Given the description of an element on the screen output the (x, y) to click on. 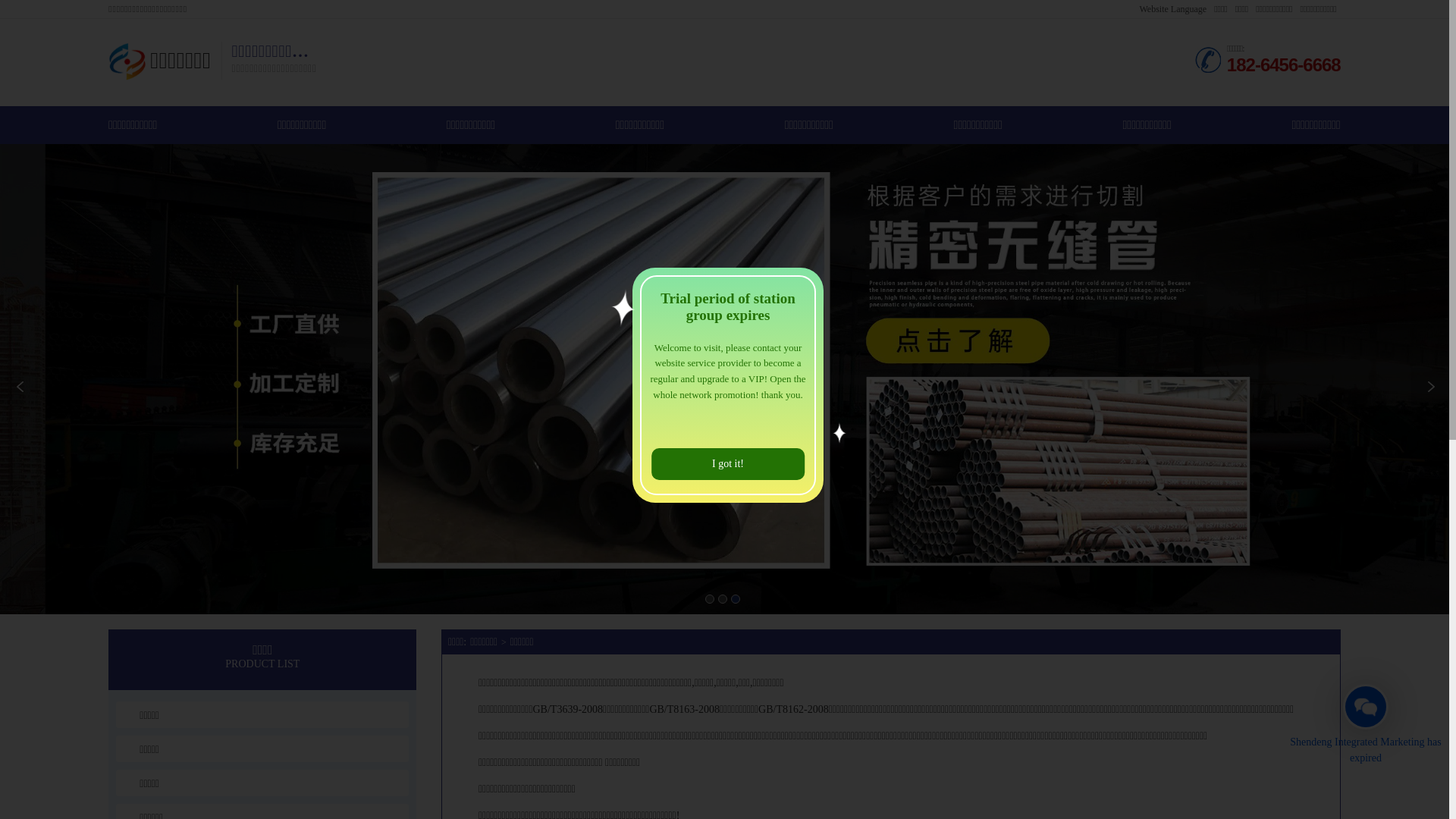
I got it! Element type: text (727, 464)
